Given the description of an element on the screen output the (x, y) to click on. 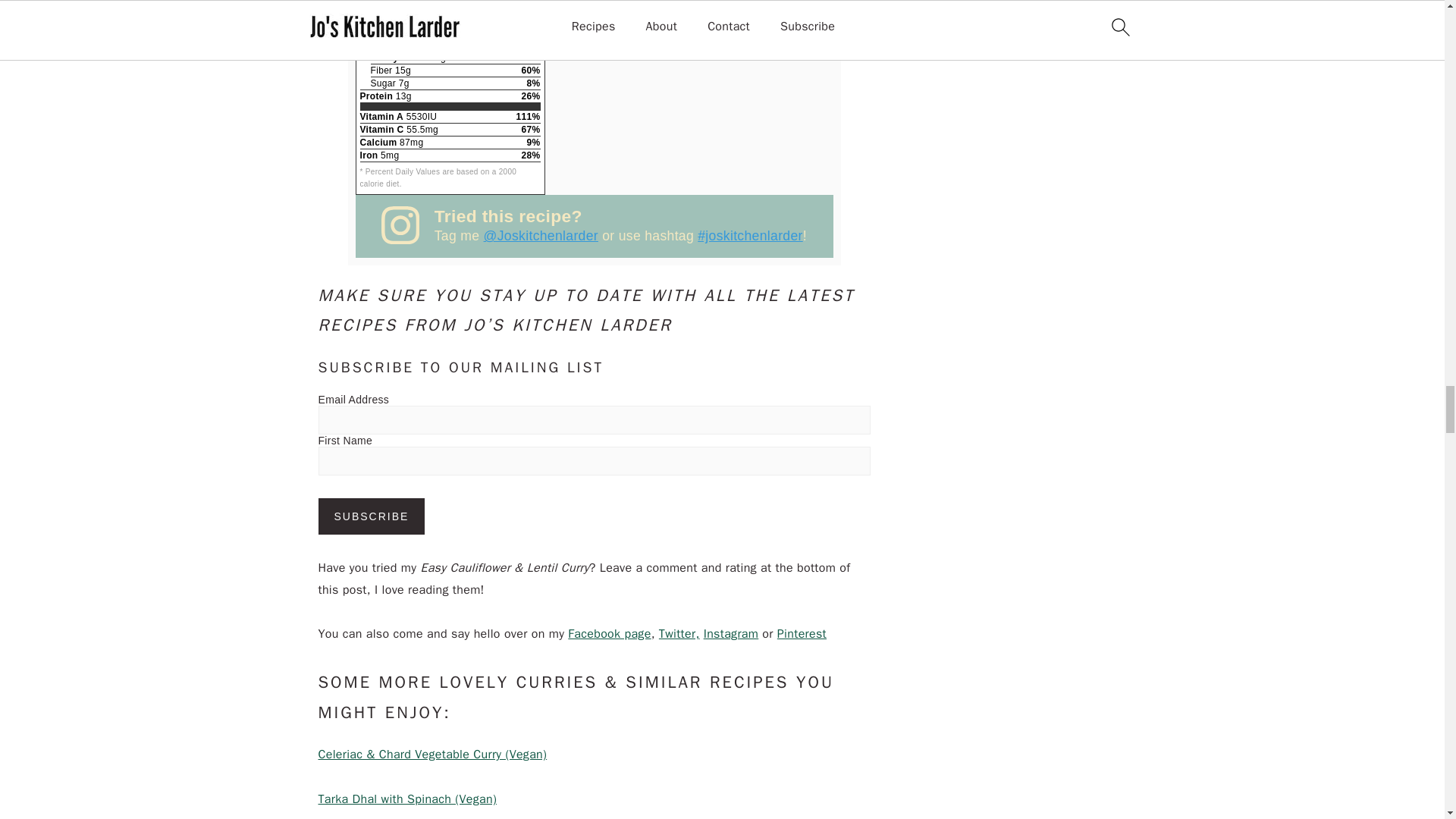
Subscribe (371, 515)
